Given the description of an element on the screen output the (x, y) to click on. 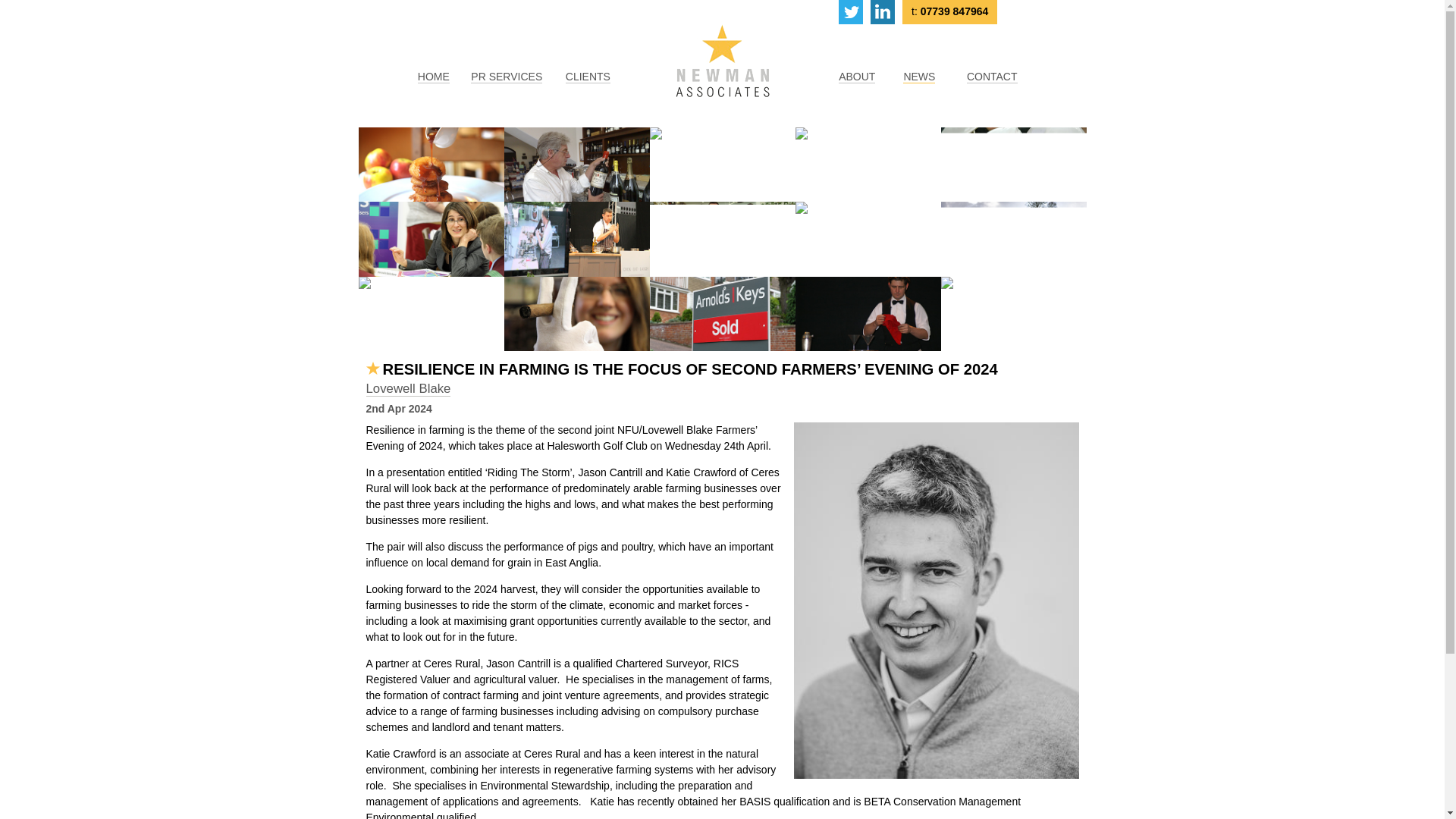
CLIENTS (588, 76)
HOME (433, 76)
Twitter (850, 12)
CONTACT (991, 76)
NEWS (918, 76)
ABOUT (856, 76)
LinkedIn (882, 12)
Lovewell Blake (407, 387)
PR SERVICES (505, 76)
